Given the description of an element on the screen output the (x, y) to click on. 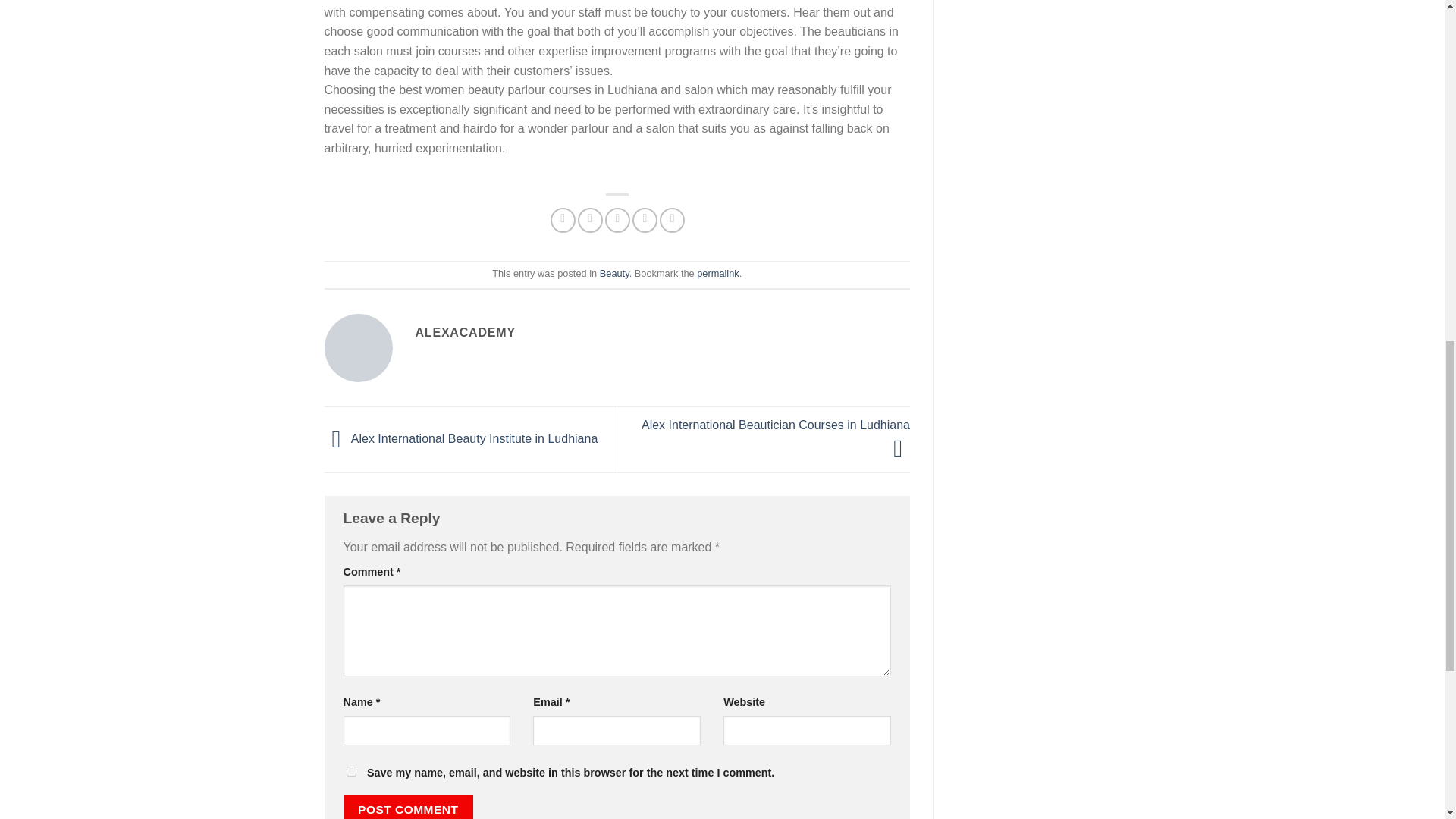
Share on Twitter (590, 220)
Email to a Friend (617, 220)
yes (350, 771)
Pin on Pinterest (644, 220)
Beauty (613, 273)
Post Comment (407, 806)
Share on Facebook (562, 220)
permalink (717, 273)
Post Comment (407, 806)
Alex International Beauty Institute in Ludhiana (461, 438)
